Given the description of an element on the screen output the (x, y) to click on. 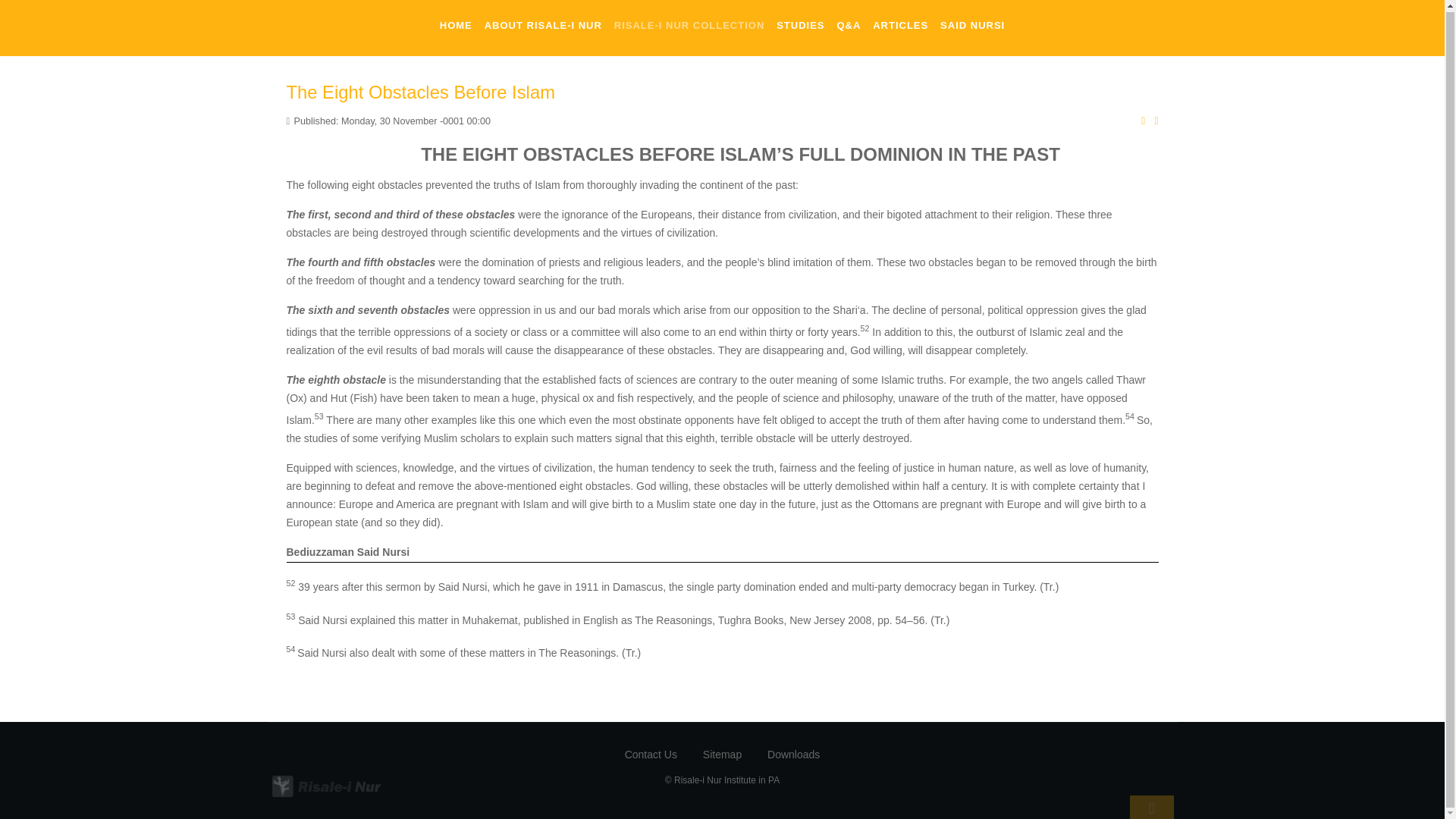
SAID NURSI (972, 24)
The Eight Obstacles Before Islam (420, 91)
Contact Us (650, 767)
Risale-i Nur (309, 785)
RISALE-I NUR COLLECTION (689, 24)
Sitemap (721, 765)
Downloads (793, 764)
STUDIES (800, 24)
ARTICLES (900, 24)
ABOUT RISALE-I NUR (542, 24)
